Given the description of an element on the screen output the (x, y) to click on. 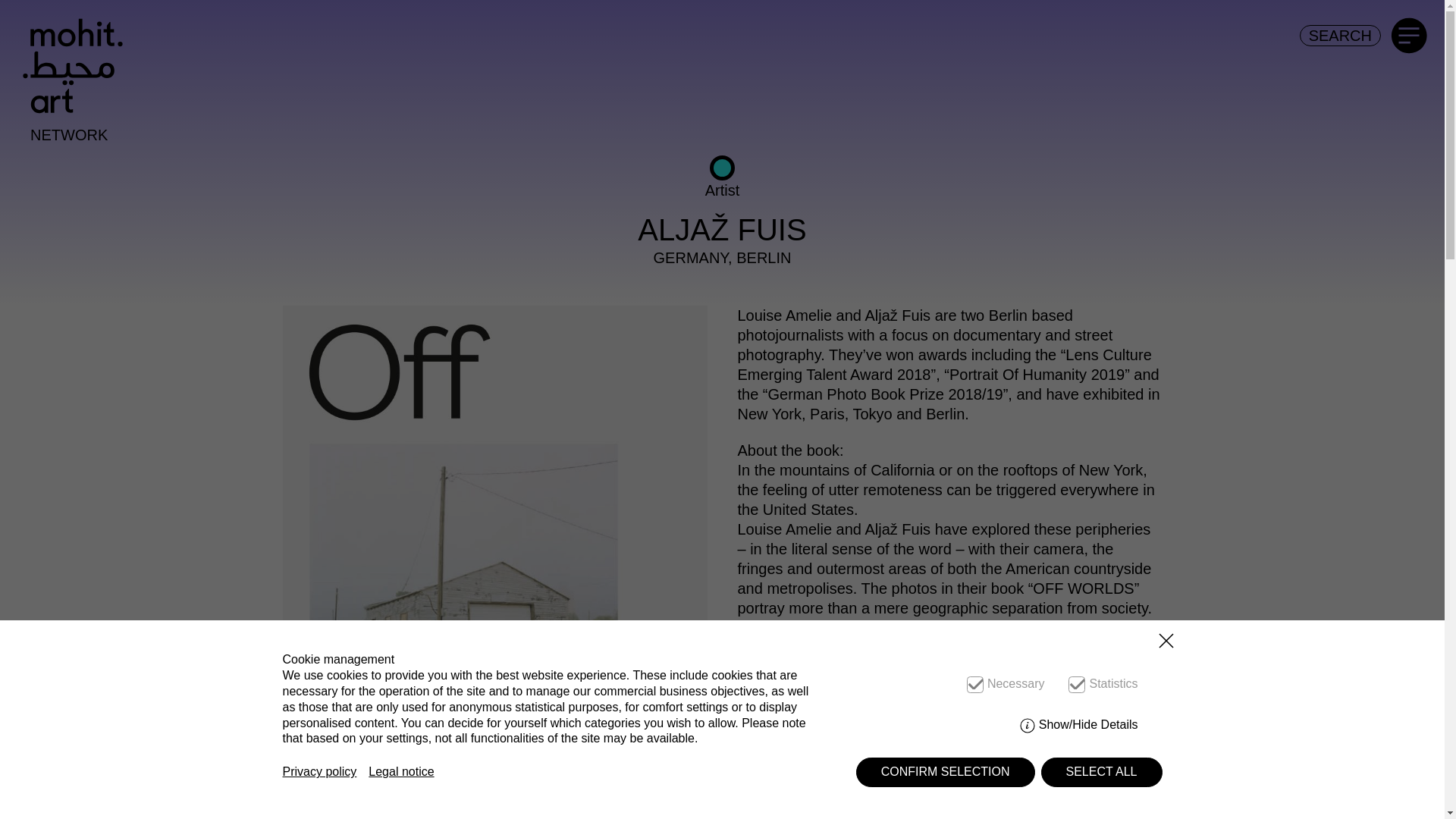
Verlag Kettler (854, 762)
NETWORK (68, 134)
SEARCH (1340, 35)
Louise Amelie (892, 723)
